Given the description of an element on the screen output the (x, y) to click on. 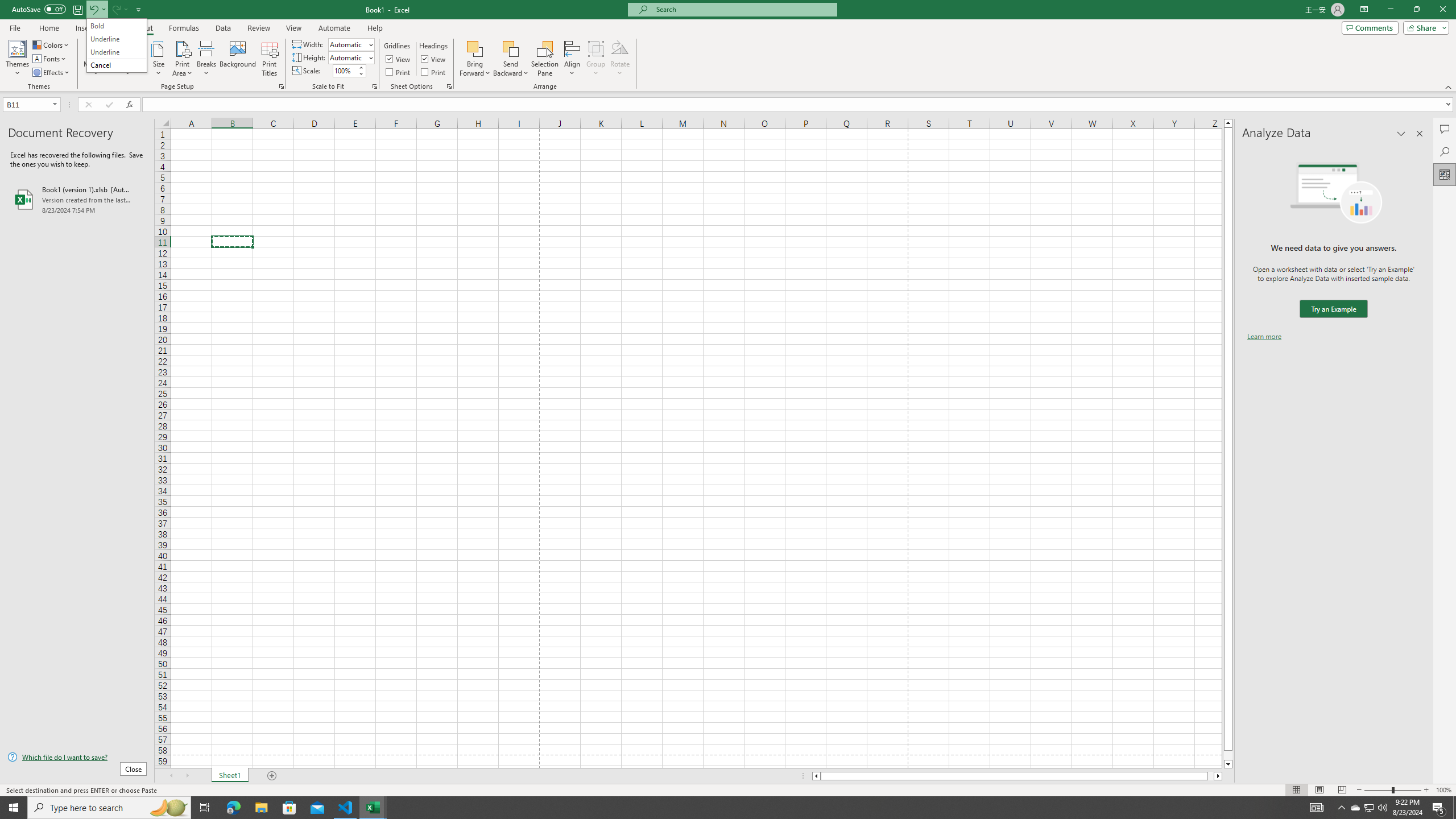
Print (434, 71)
Action Center, 5 new notifications (1439, 807)
Task View (204, 807)
Themes (17, 58)
Show desktop (1454, 807)
Excel - 2 running windows (373, 807)
More (360, 67)
